Given the description of an element on the screen output the (x, y) to click on. 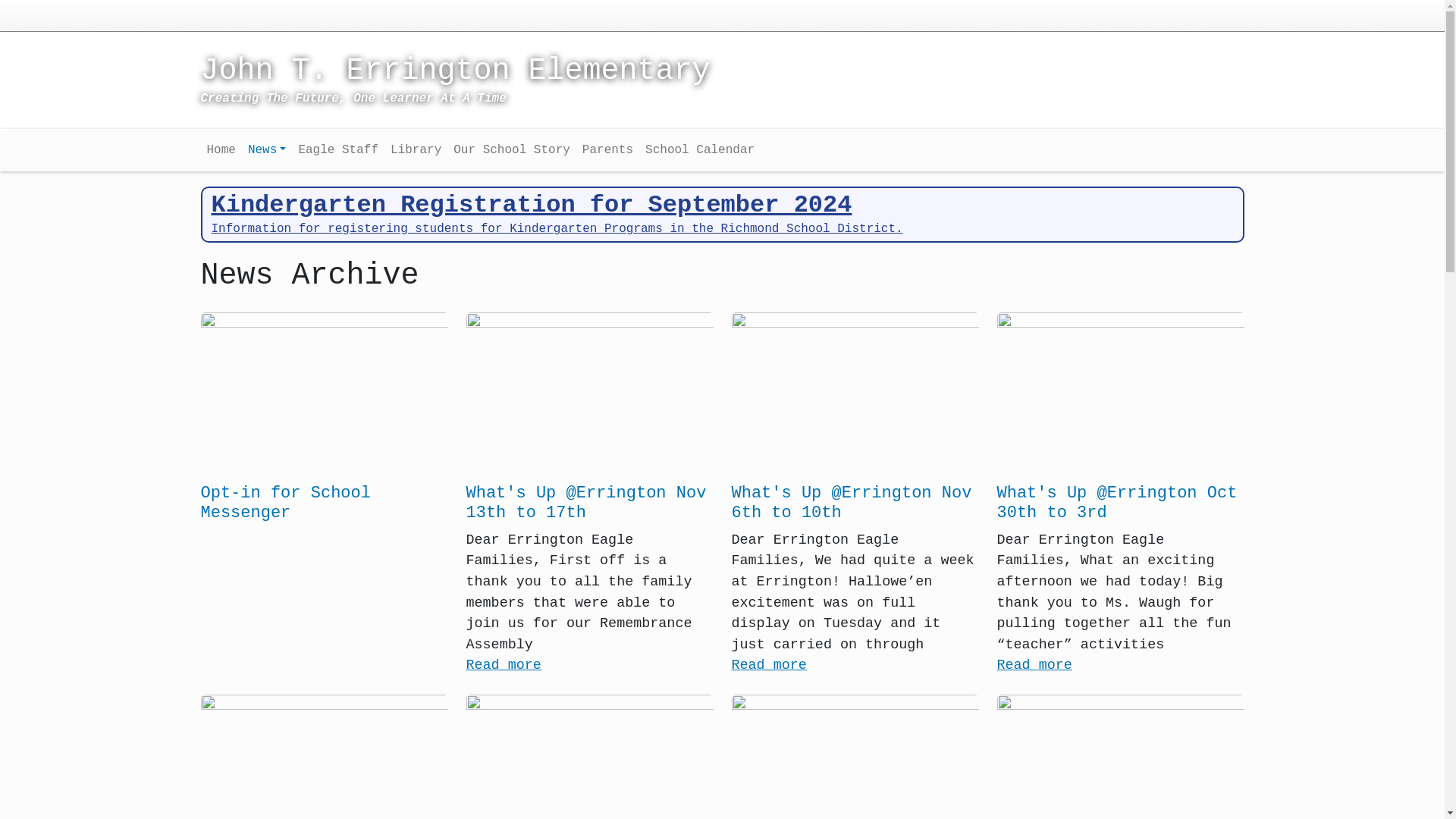
What's Up @Errington Nov 6th to 10th Element type: text (851, 502)
Read more Element type: text (1033, 665)
District Logo Element type: text (240, 13)
School Calendar Element type: text (699, 149)
What's Up @Errington Oct 30th to 3rd Element type: text (1116, 502)
News Element type: text (266, 149)
Our School Story Element type: text (511, 149)
Read more Element type: text (768, 665)
Opt-in for School Messenger Element type: text (285, 502)
Parents Element type: text (607, 149)
Home Element type: text (220, 149)
Read more Element type: text (502, 665)
Eagle Staff Element type: text (337, 149)
John T. Errington Elementary Element type: text (589, 79)
What's Up @Errington Nov 13th to 17th Element type: text (585, 502)
Library Element type: text (415, 149)
